Given the description of an element on the screen output the (x, y) to click on. 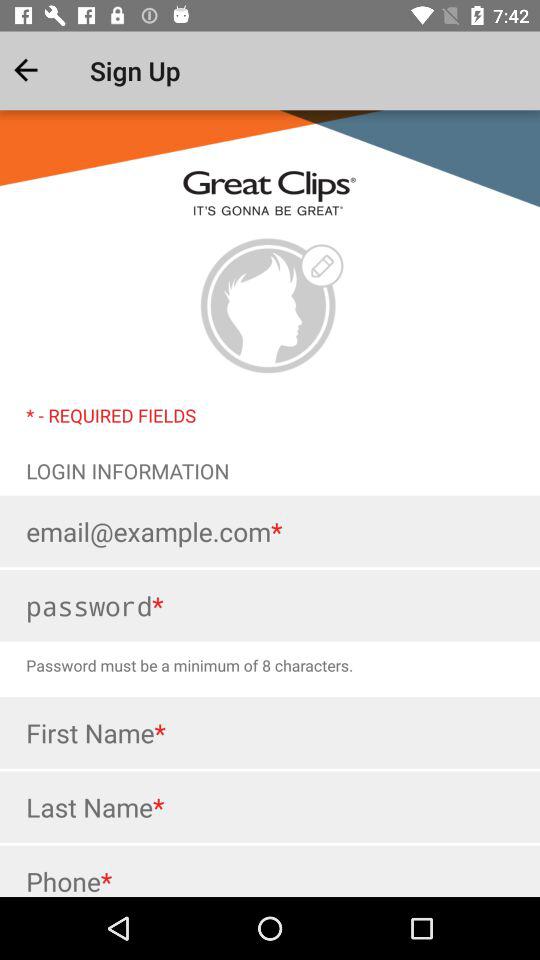
add profile picture (269, 305)
